Given the description of an element on the screen output the (x, y) to click on. 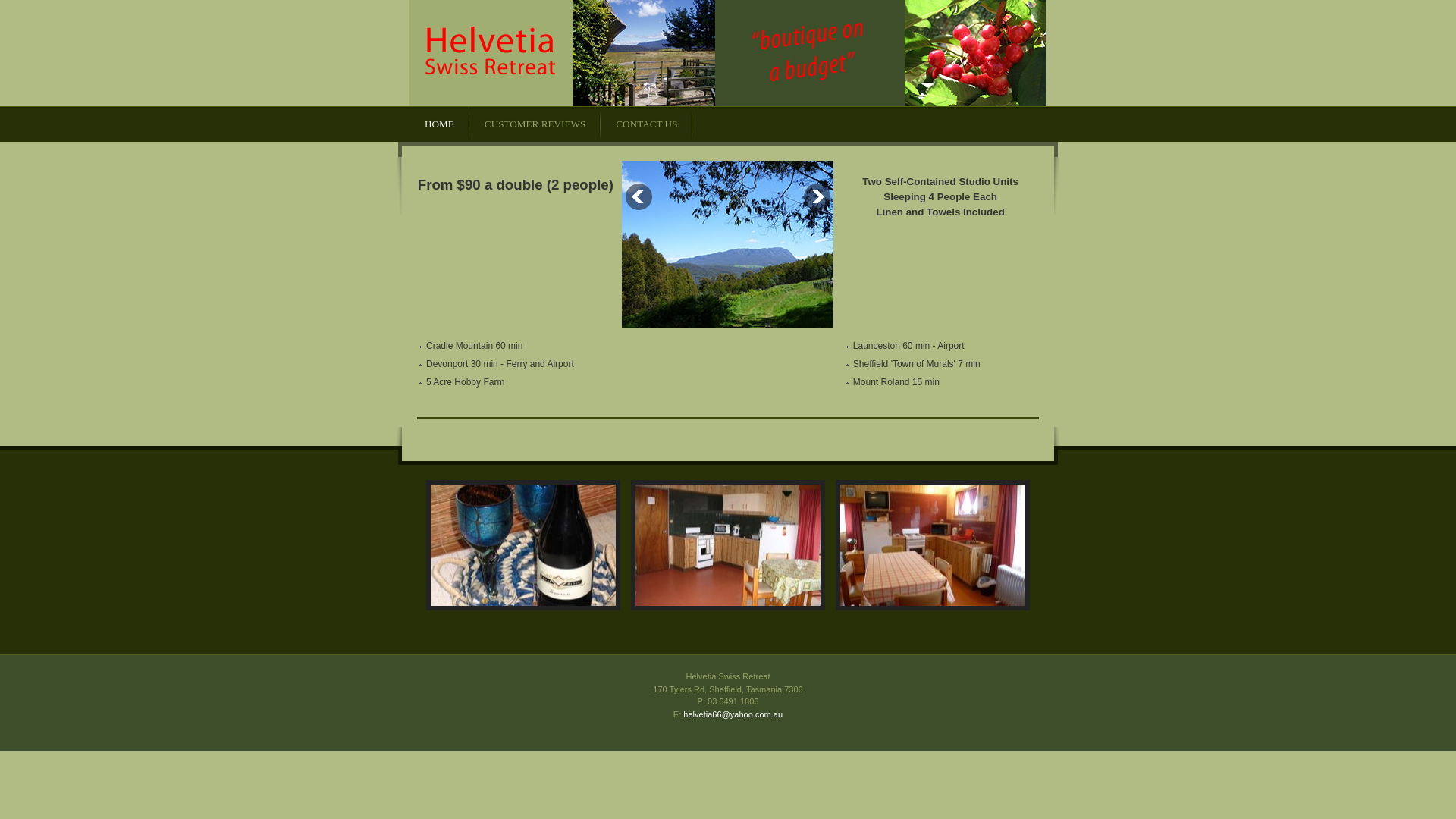
Click to enlarge image 02.jpg Element type: hover (727, 544)
HOME Element type: text (439, 123)
Click to enlarge image 03.jpg Element type: hover (932, 544)
helvetia66@yahoo.com.au Element type: text (732, 713)
Click to enlarge image 01.jpg Element type: hover (522, 544)
Helvetia Swiss Retreat Element type: hover (727, 53)
CONTACT US Element type: text (646, 123)
CUSTOMER REVIEWS Element type: text (534, 123)
